Given the description of an element on the screen output the (x, y) to click on. 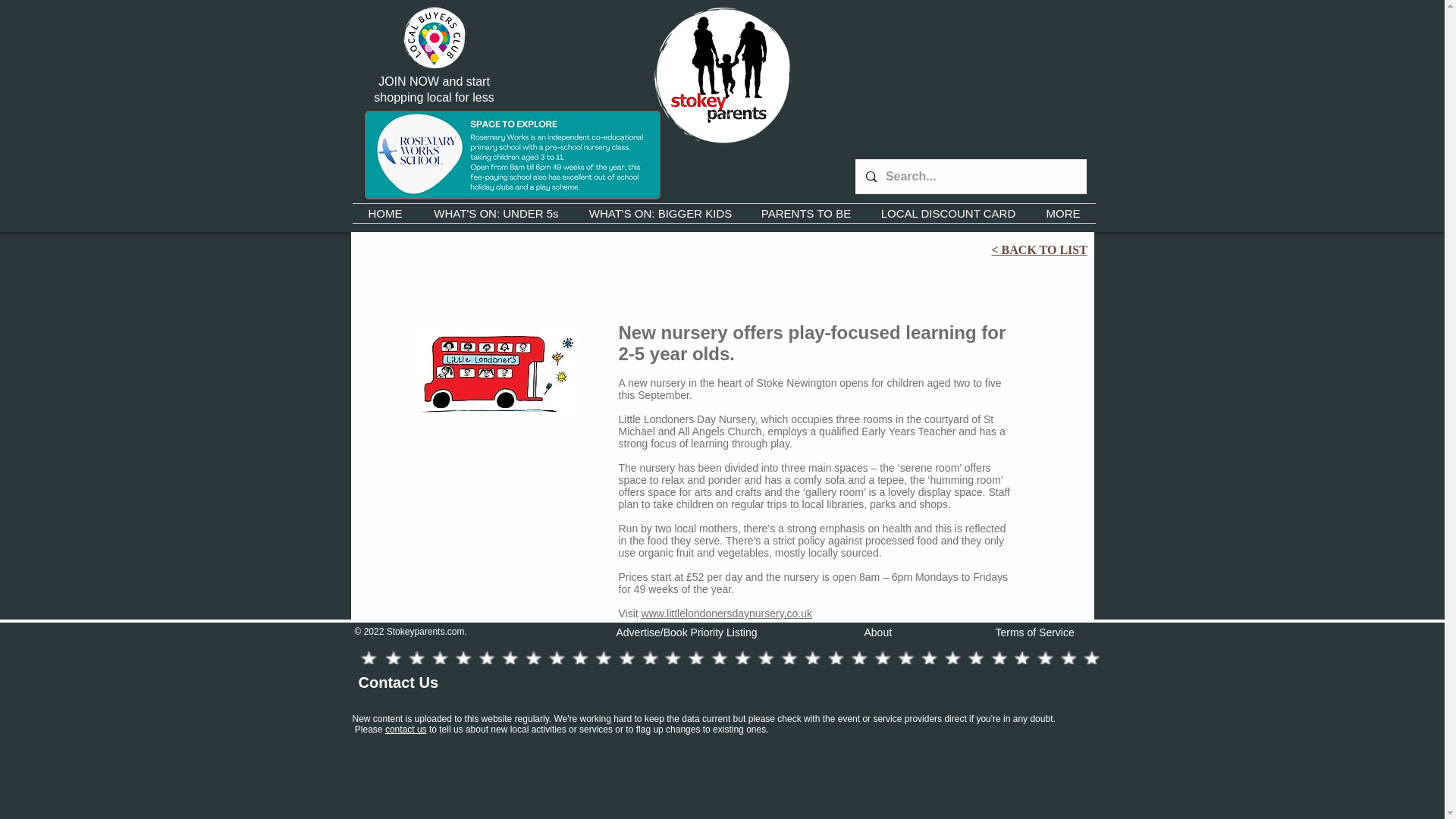
JOIN NOW and start shopping local for less (433, 89)
LOCAL DISCOUNT CARD (948, 212)
Please (370, 728)
www.littlelondonersdaynursery.co.uk (727, 613)
Terms of Service (1034, 632)
About (878, 632)
HOME (384, 212)
WHAT'S ON: BIGGER KIDS (660, 212)
Contact Us (398, 682)
PARENTS TO BE (804, 212)
contact us (405, 728)
